Given the description of an element on the screen output the (x, y) to click on. 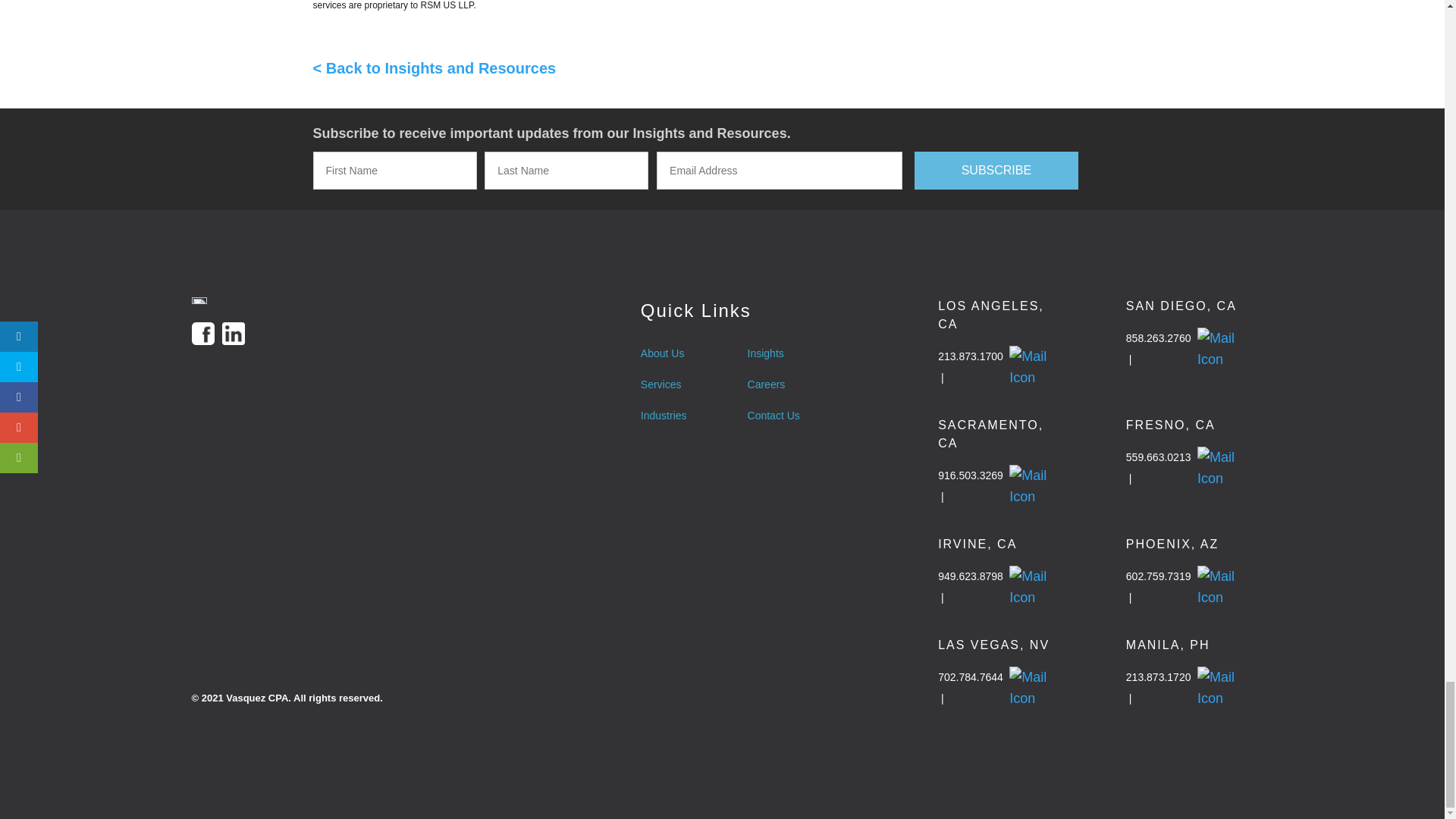
Careers (773, 383)
SUBSCRIBE (996, 170)
Contact Us (773, 415)
Services (663, 383)
Industries (663, 415)
About Us (663, 353)
Insights (773, 353)
